Given the description of an element on the screen output the (x, y) to click on. 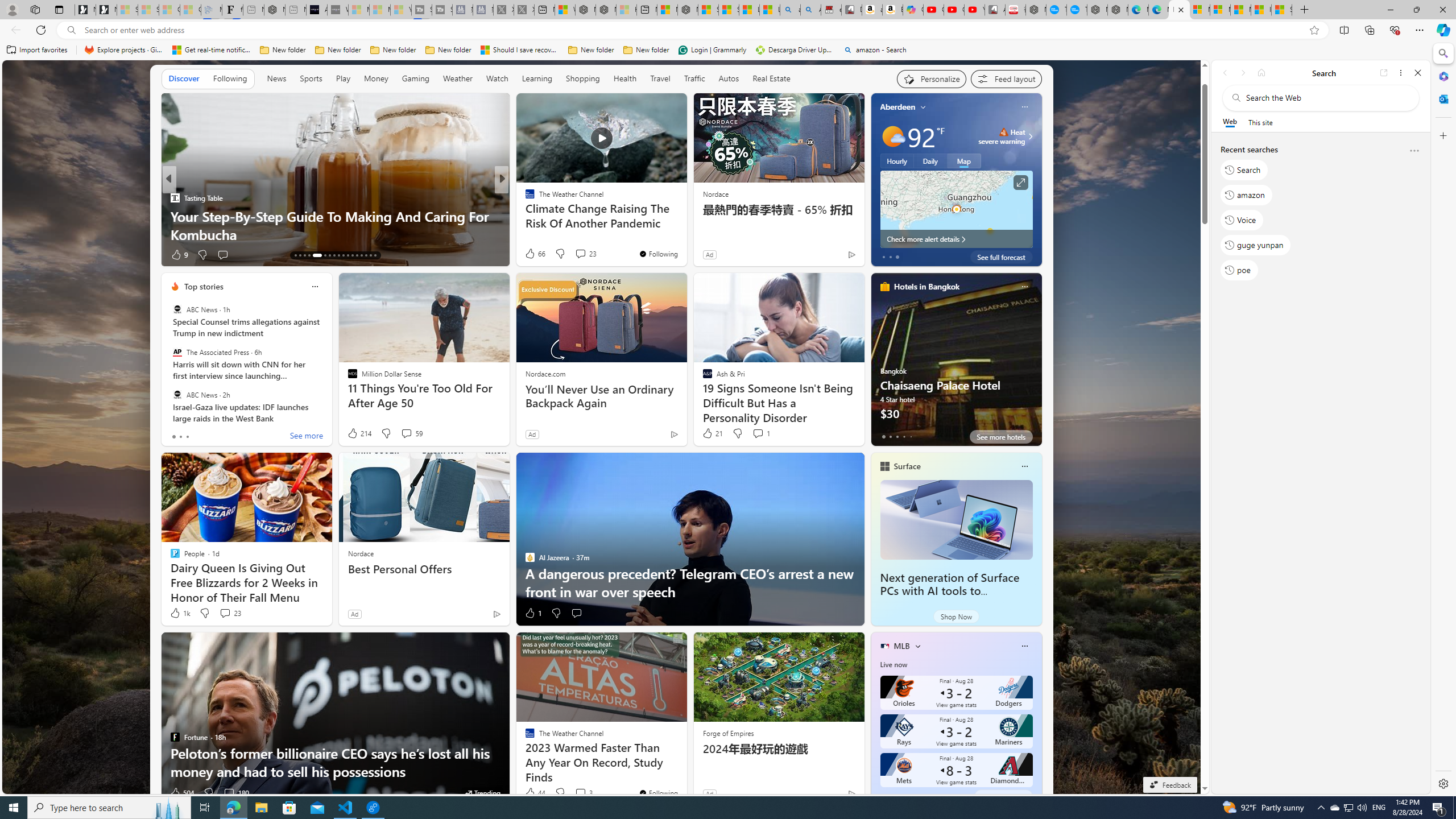
Forward (1242, 72)
The Weather Channel (524, 197)
Hotels in Bangkok (926, 286)
Chip Chick (524, 197)
View comments 1 Comment (760, 433)
Lifehacker (524, 215)
Surface (906, 466)
View comments 3 Comment (580, 792)
View comments 50 Comment (576, 254)
